Given the description of an element on the screen output the (x, y) to click on. 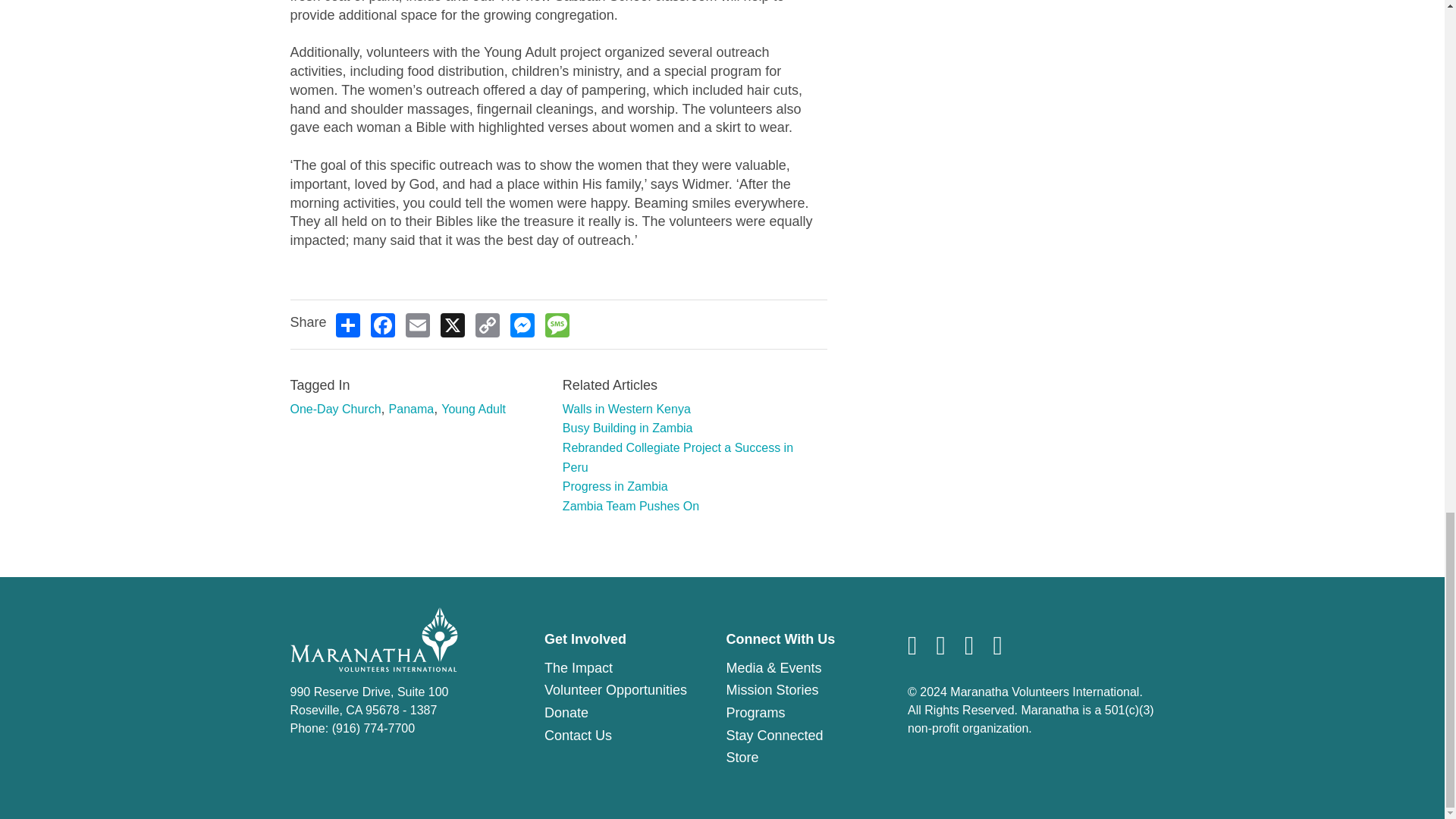
Rebranded Collegiate Project a Success in Peru (677, 457)
Busy Building in Zambia (627, 427)
Zambia Team Pushes On (630, 505)
Progress in Zambia (615, 486)
Walls in Western Kenya (626, 408)
